Given the description of an element on the screen output the (x, y) to click on. 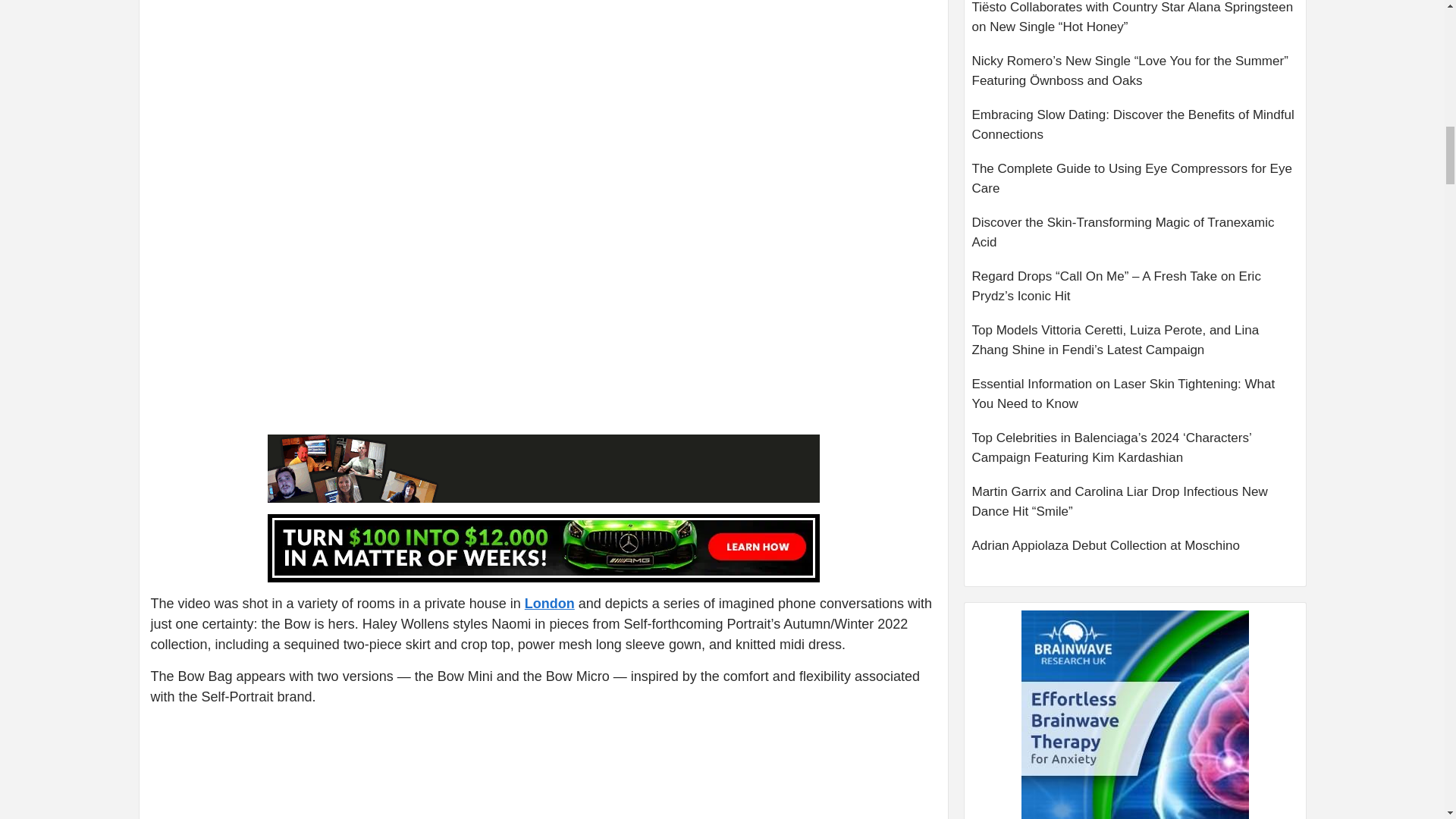
London (549, 603)
